Given the description of an element on the screen output the (x, y) to click on. 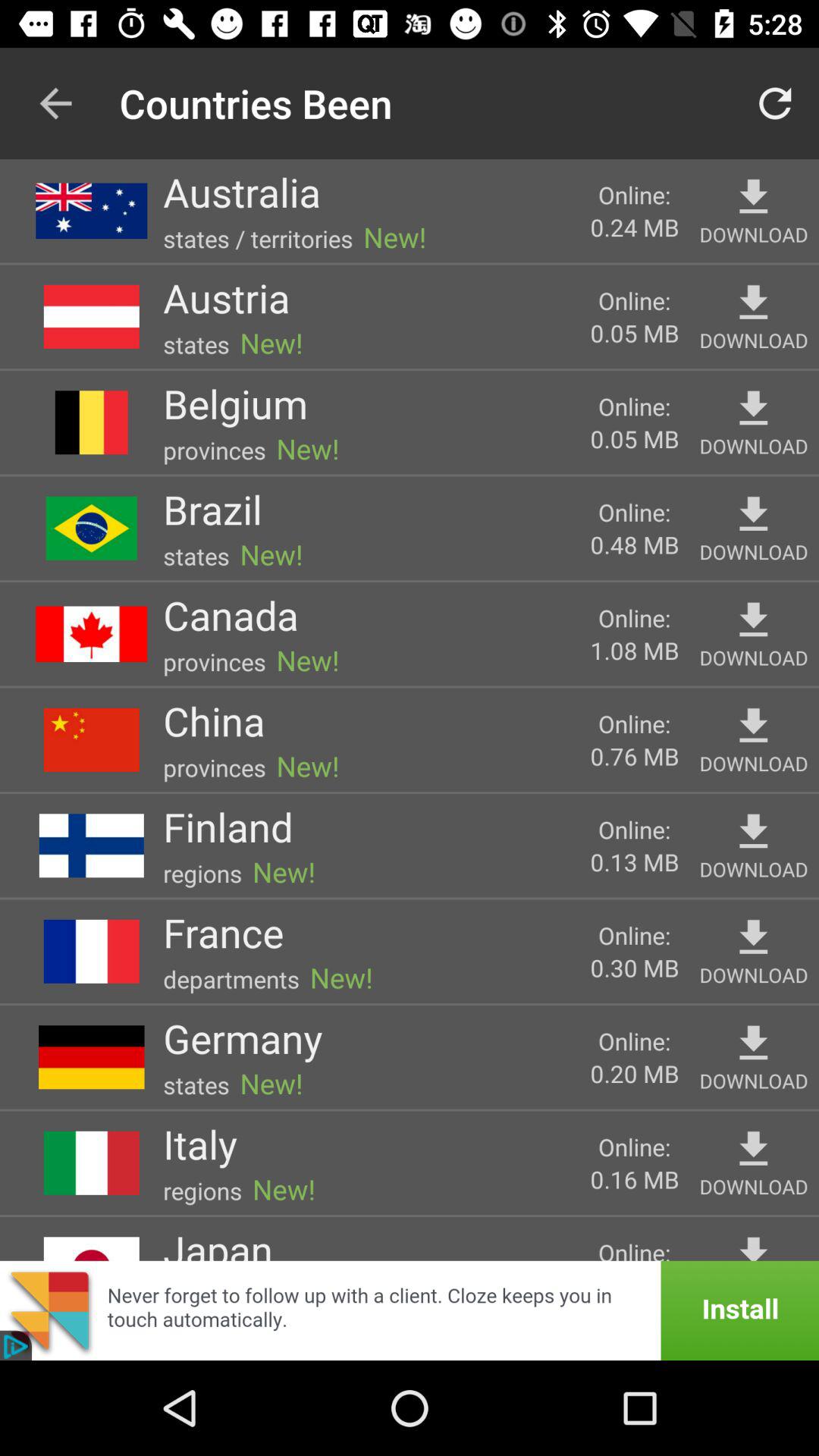
download (753, 1149)
